Given the description of an element on the screen output the (x, y) to click on. 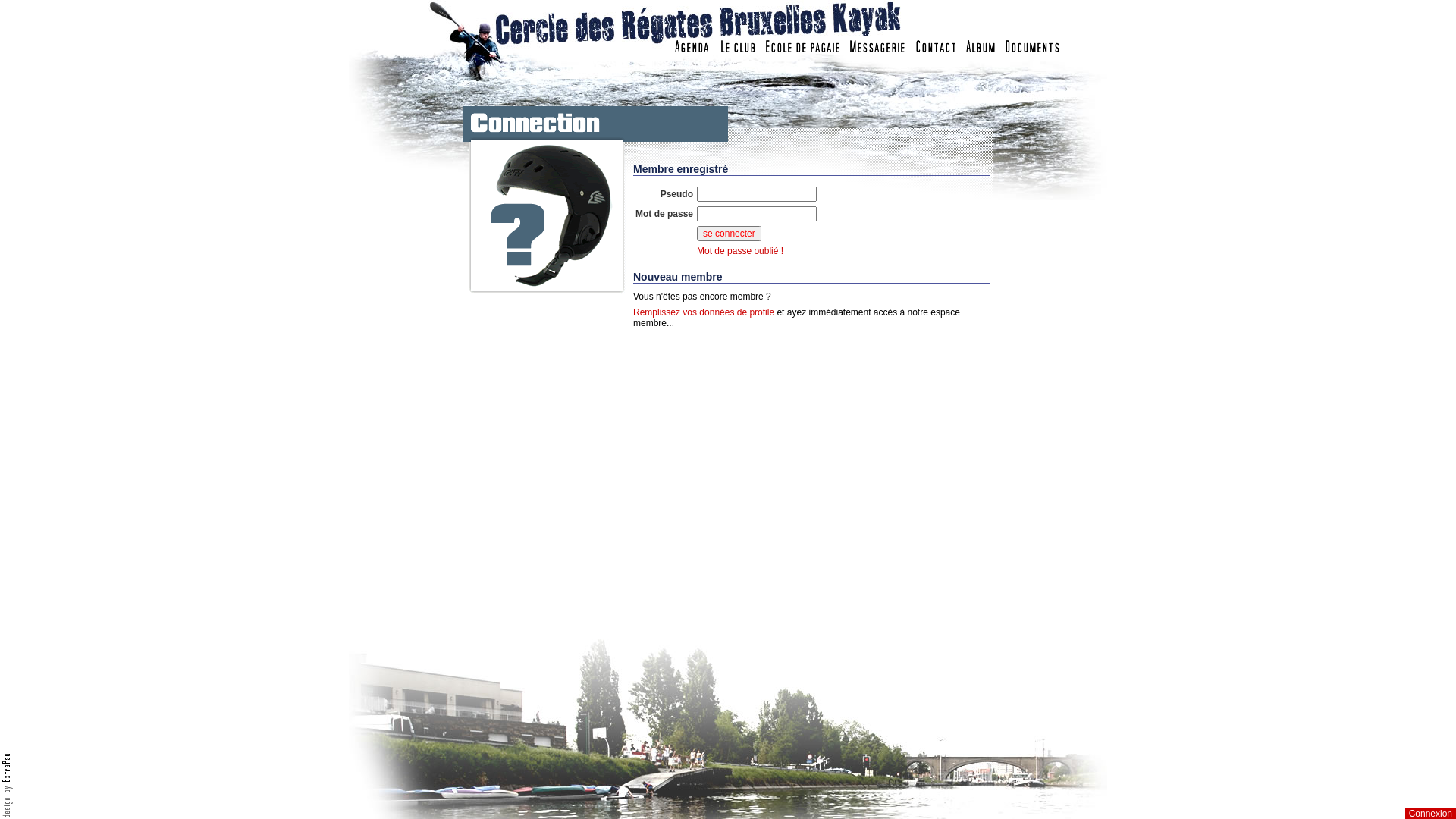
se connecter Element type: text (728, 233)
